Given the description of an element on the screen output the (x, y) to click on. 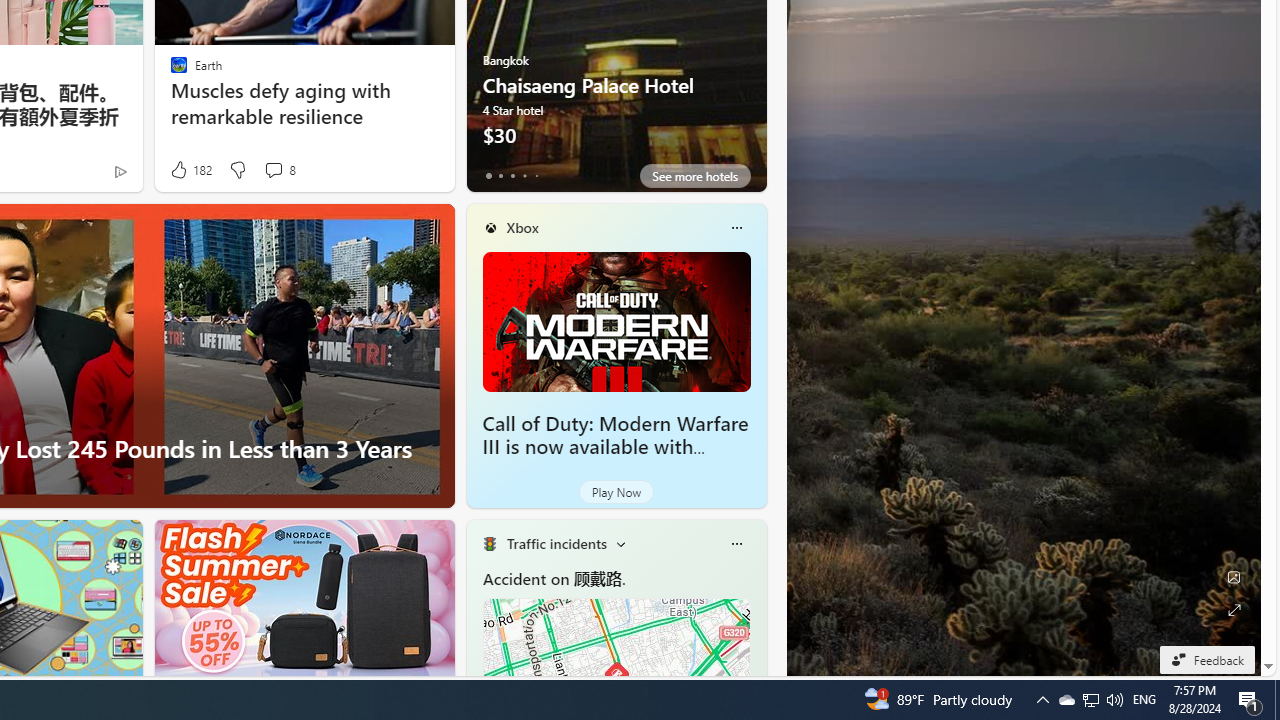
See more hotels (694, 175)
Play Now (616, 491)
Dislike (237, 170)
tab-3 (524, 175)
View comments 8 Comment (273, 169)
Change scenarios (620, 543)
182 Like (190, 170)
Feedback (1206, 659)
tab-0 (488, 175)
